Given the description of an element on the screen output the (x, y) to click on. 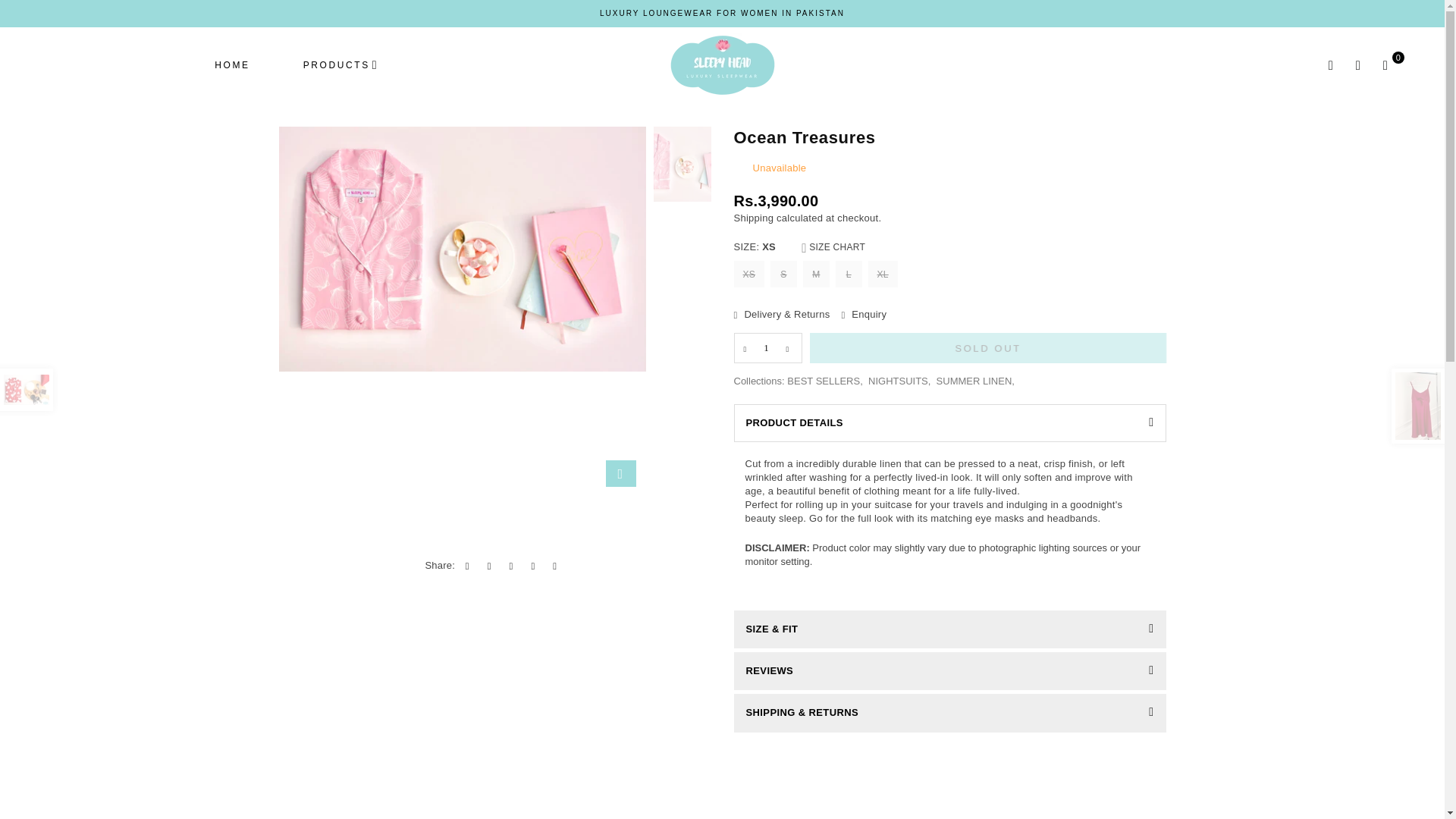
Search (1330, 65)
Previous Product (26, 389)
PRODUCTS (341, 64)
HOME (231, 64)
0 (1385, 65)
SLEEPYHEADPK (721, 65)
Cart (1385, 65)
Quantity (767, 347)
Settings (1357, 65)
